Given the description of an element on the screen output the (x, y) to click on. 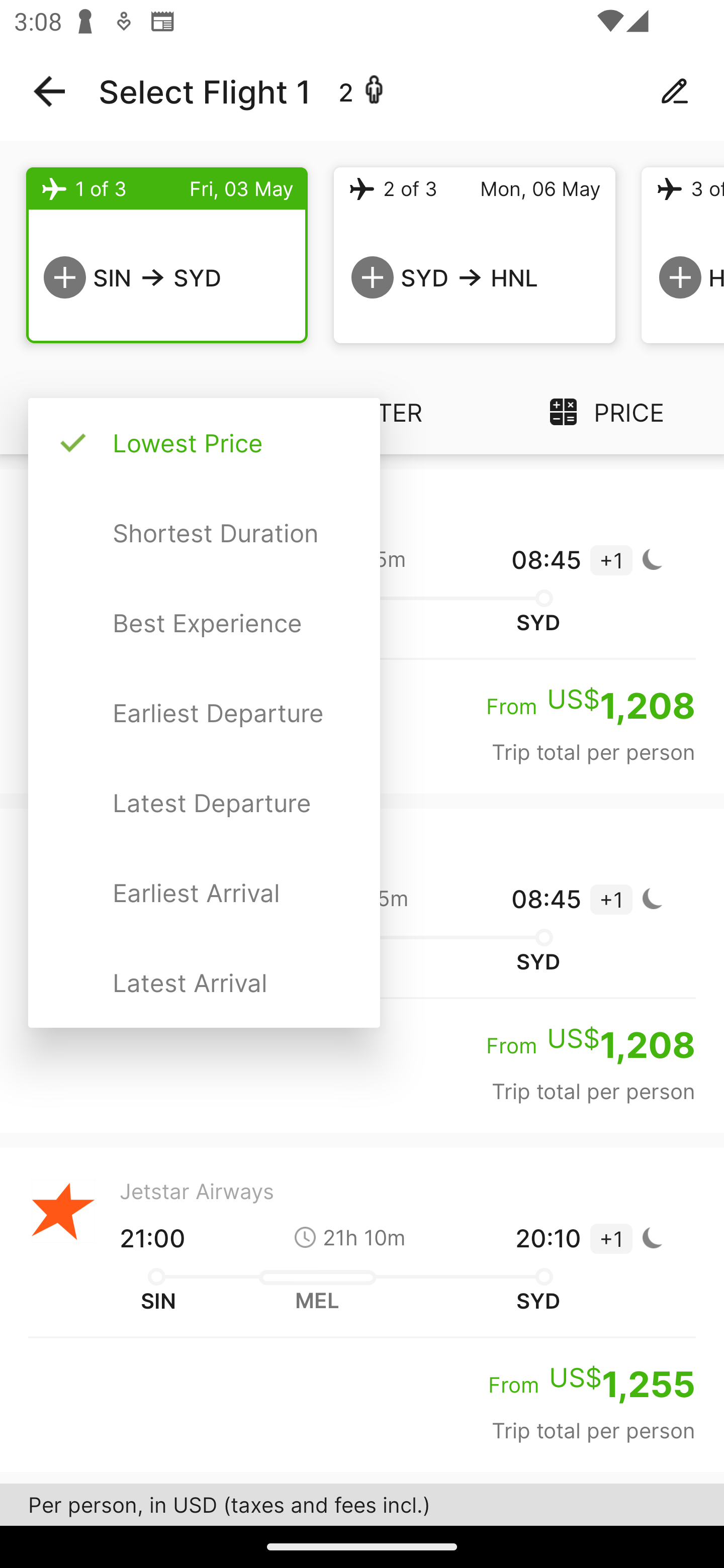
Lowest Price (204, 442)
Shortest Duration (204, 532)
Best Experience (204, 622)
Earliest Departure (204, 712)
Latest Departure (204, 802)
Earliest Arrival (204, 892)
Latest Arrival (204, 982)
